Given the description of an element on the screen output the (x, y) to click on. 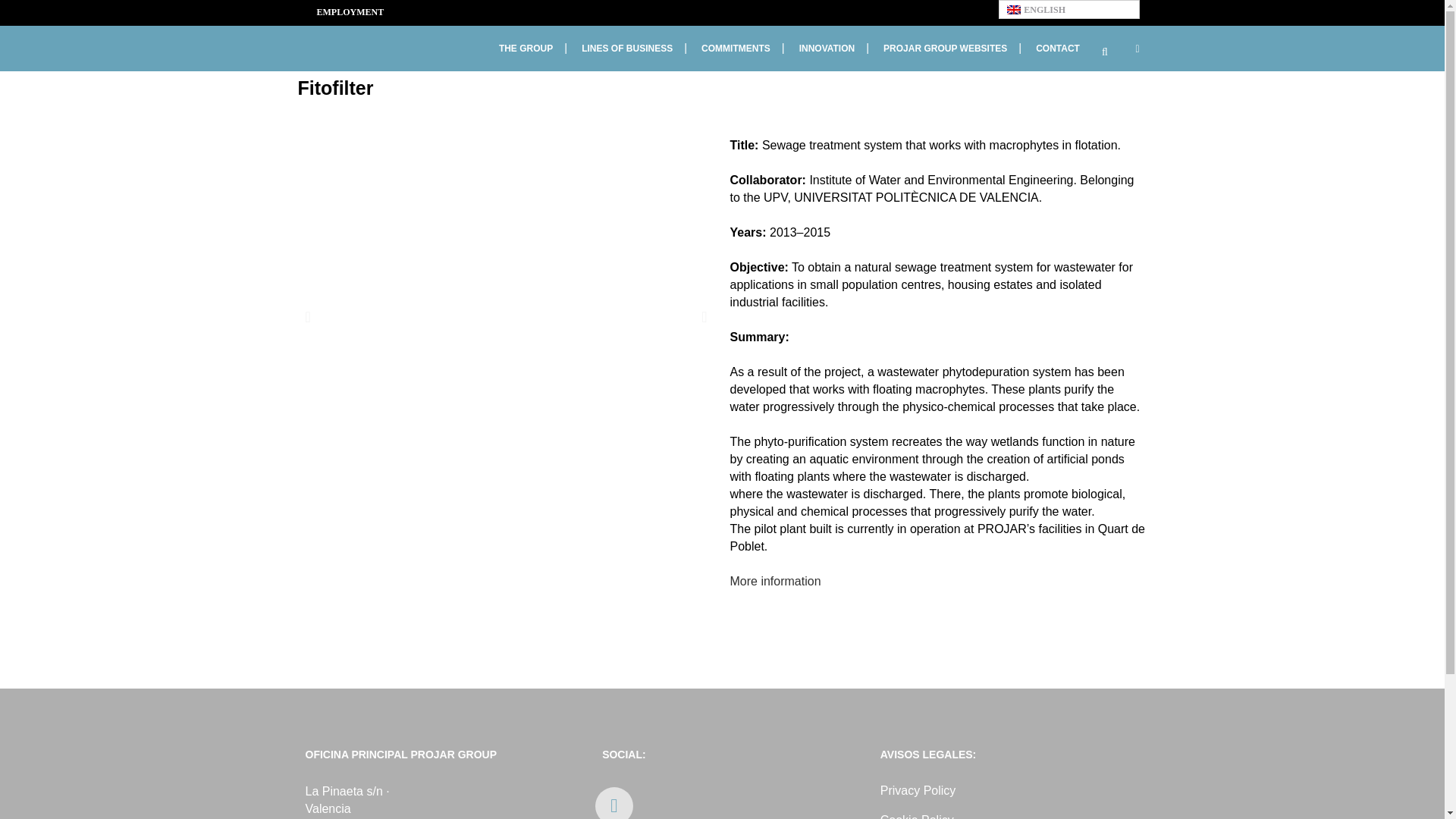
EMPLOYMENT (344, 12)
LINES OF BUSINESS (627, 48)
More information (775, 581)
THE GROUP (526, 48)
COMMITMENTS (735, 48)
PROJAR GROUP WEBSITES (945, 48)
ENGLISH (1067, 9)
CONTACT (1058, 48)
INNOVATION (826, 48)
